Given the description of an element on the screen output the (x, y) to click on. 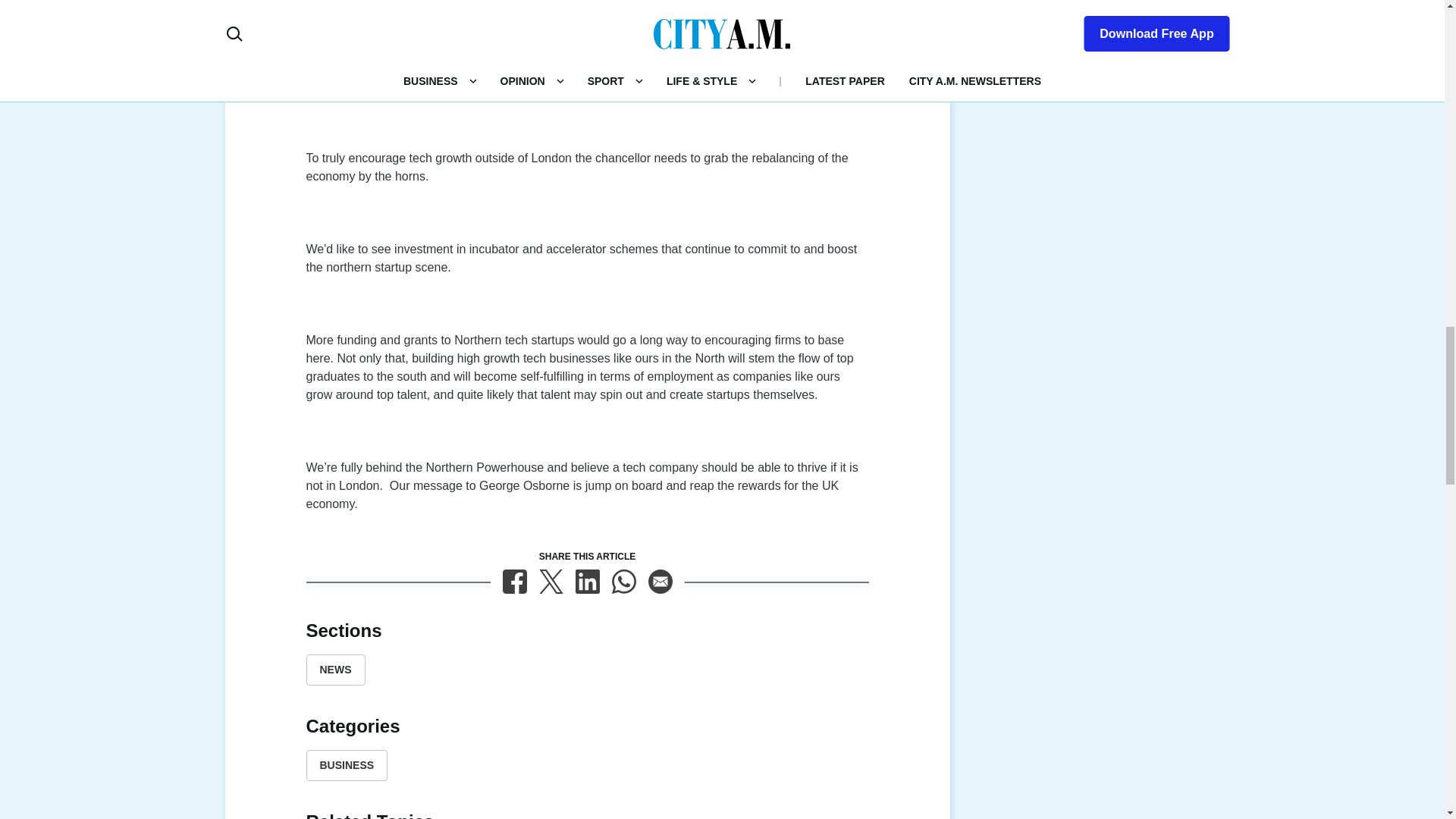
Email (659, 581)
X (550, 581)
Facebook (513, 581)
LinkedIn (586, 581)
WhatsApp (622, 581)
